Given the description of an element on the screen output the (x, y) to click on. 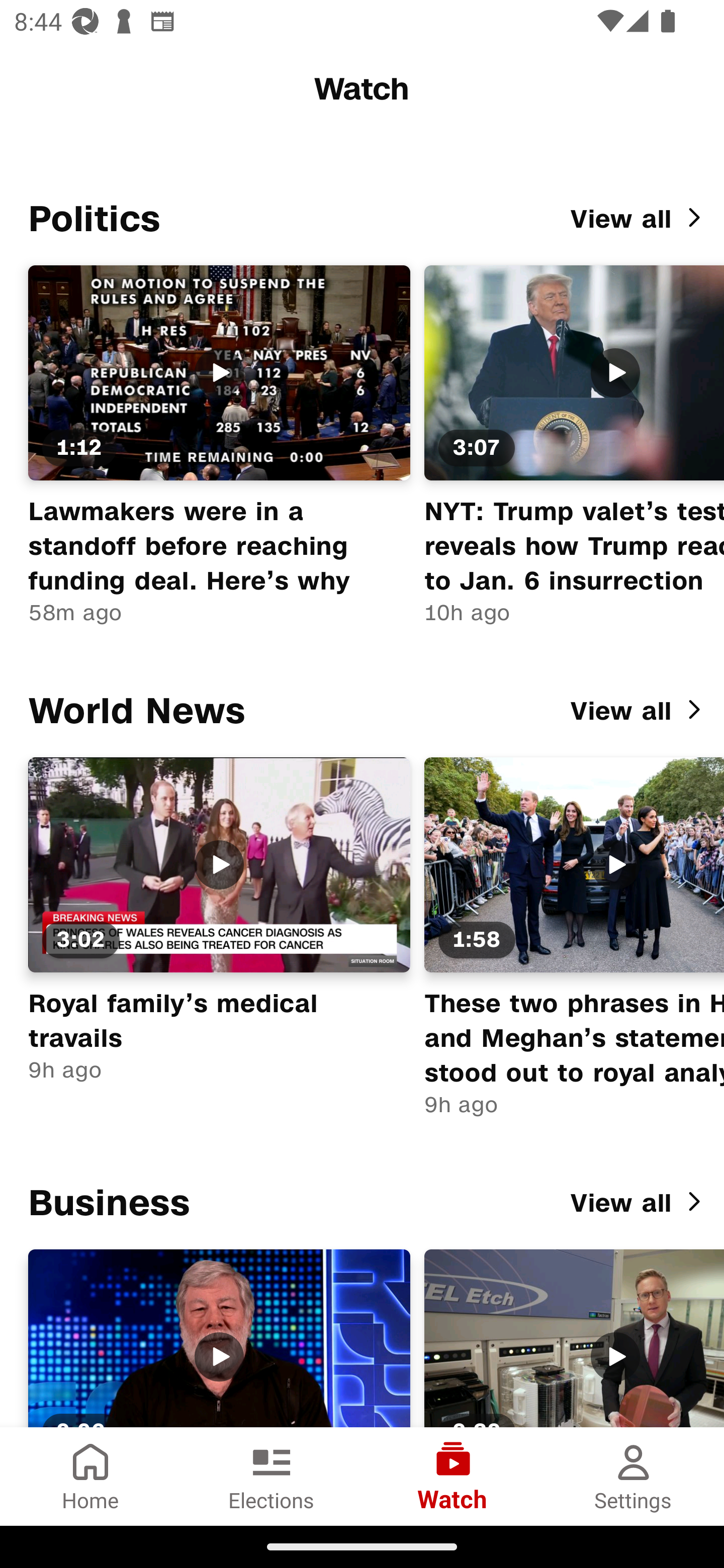
View all (639, 219)
View all (639, 711)
View all (639, 1203)
Home (90, 1475)
Elections (271, 1475)
Settings (633, 1475)
